Given the description of an element on the screen output the (x, y) to click on. 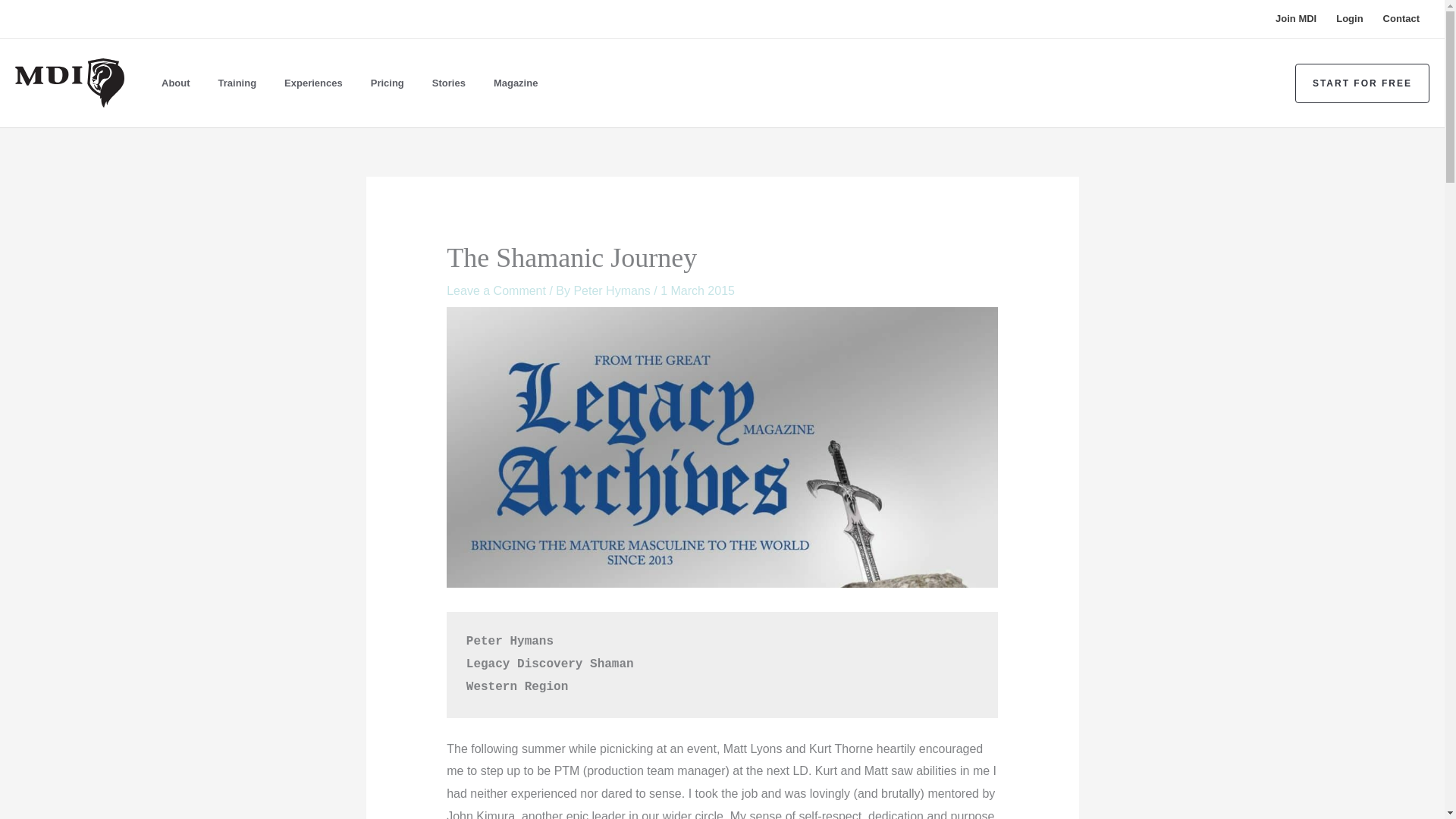
View all posts by Peter Hymans (613, 290)
Pricing (391, 82)
START FOR FREE (1362, 83)
Experiences (318, 82)
Contact (1401, 18)
Stories (452, 82)
Training (241, 82)
Peter Hymans (613, 290)
Login (1349, 18)
About (179, 82)
Magazine (519, 82)
Leave a Comment (496, 290)
Join MDI (1295, 18)
